Given the description of an element on the screen output the (x, y) to click on. 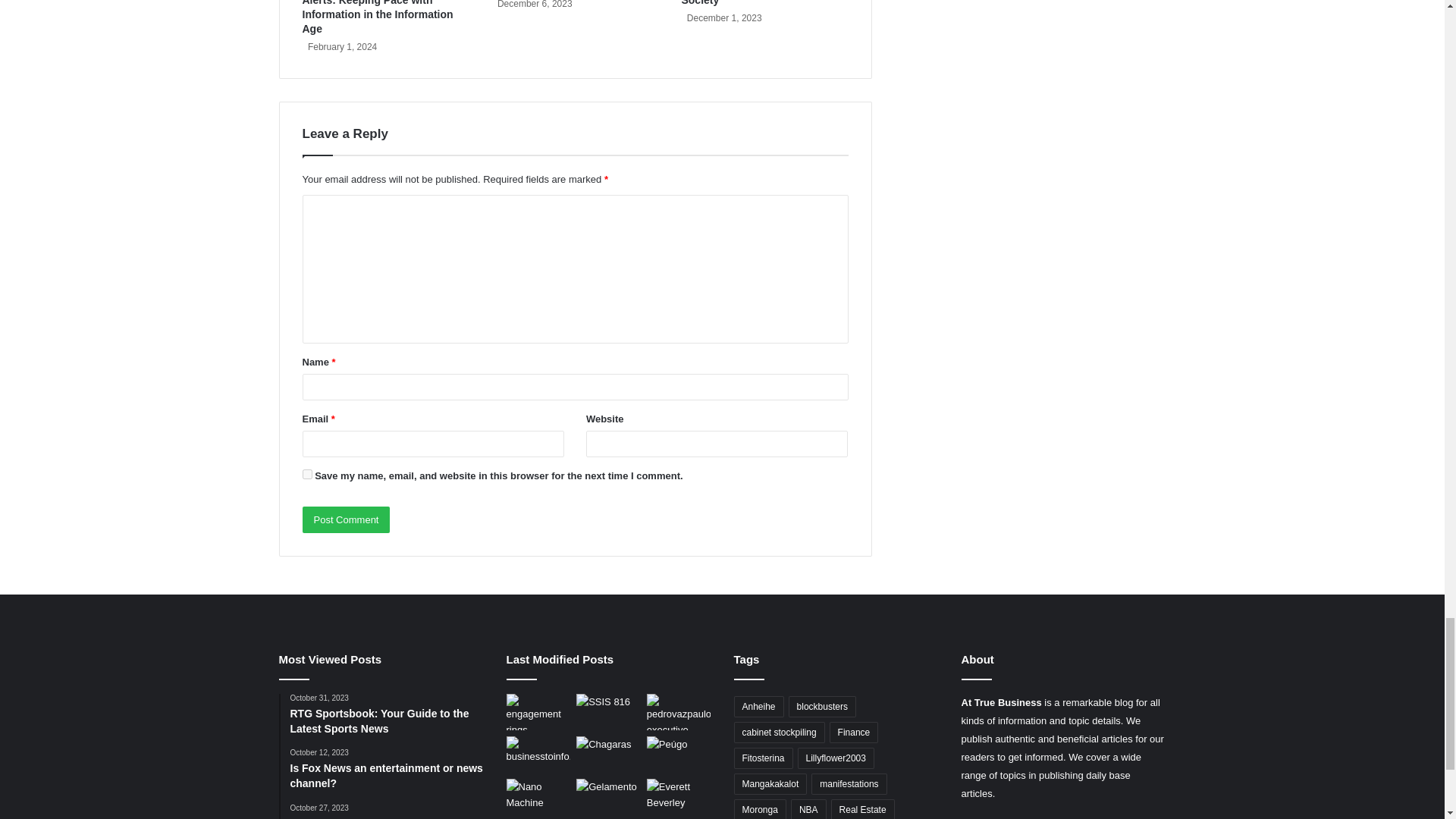
Post Comment (345, 519)
yes (306, 474)
